Given the description of an element on the screen output the (x, y) to click on. 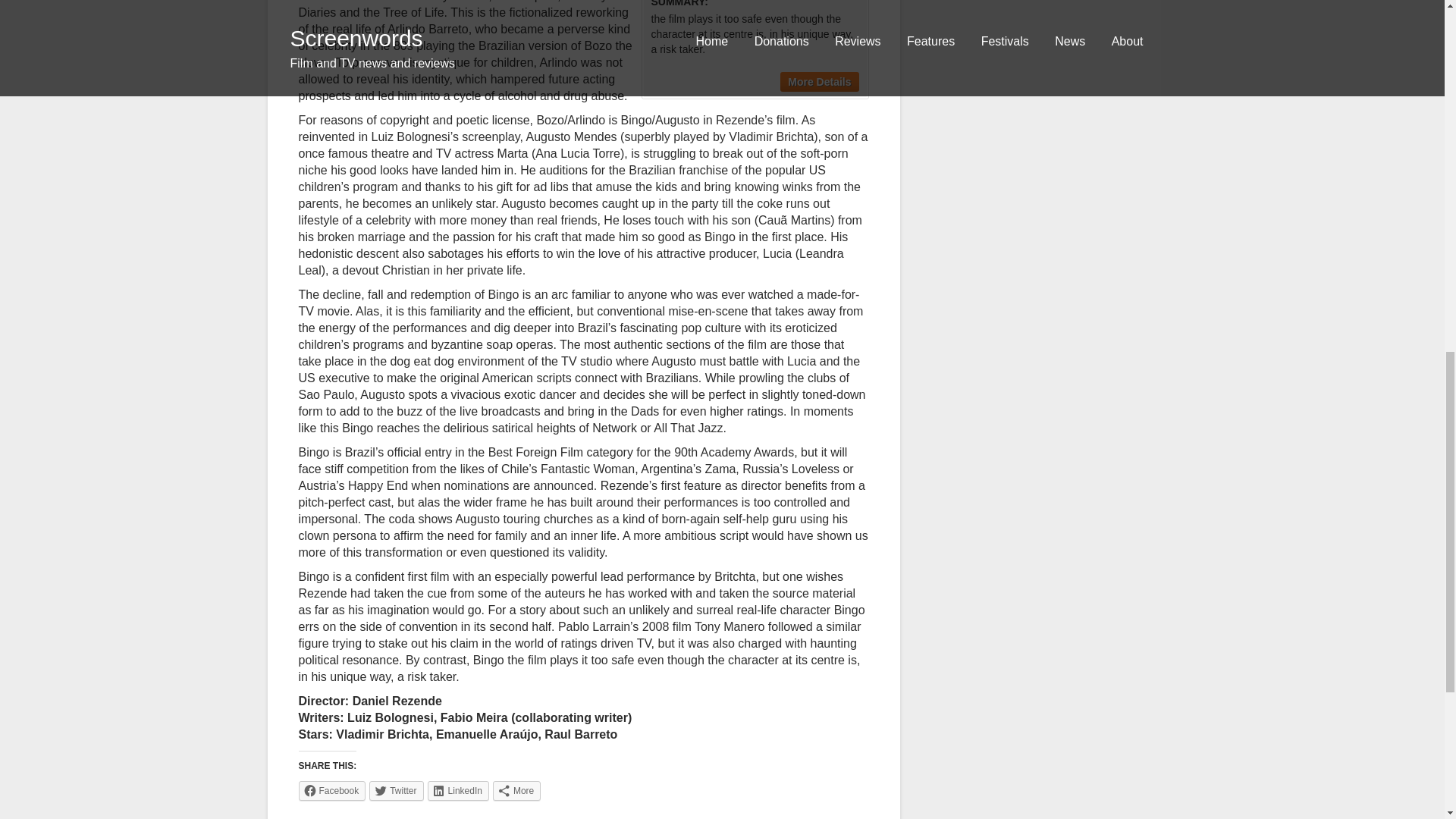
Click to share on Twitter (396, 790)
More Details (819, 81)
More (516, 790)
Click to share on LinkedIn (458, 790)
Bingo: The King of Mornings (819, 81)
Click to share on Facebook (332, 790)
Facebook (332, 790)
Twitter (396, 790)
LinkedIn (458, 790)
